Given the description of an element on the screen output the (x, y) to click on. 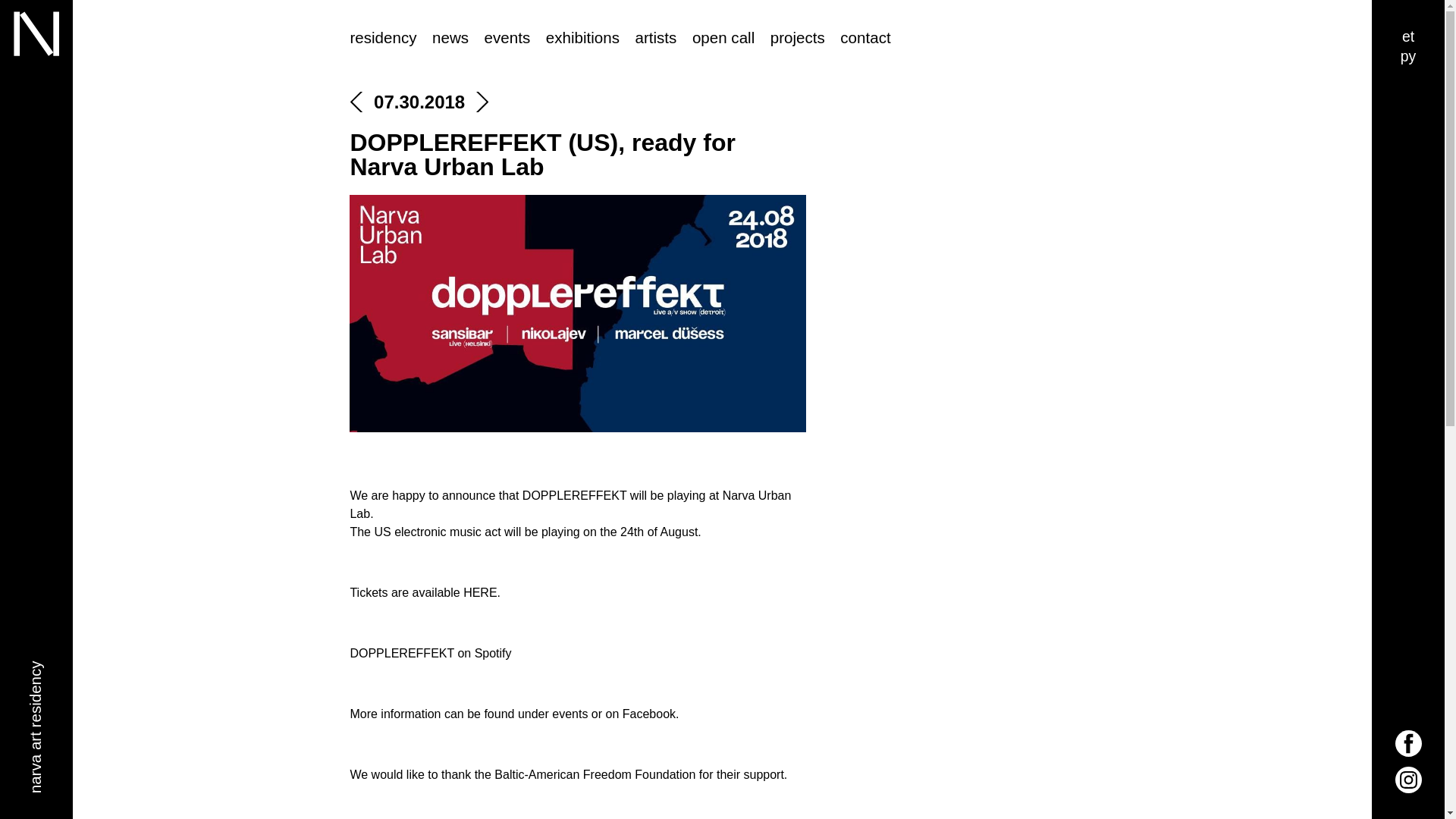
open call (723, 37)
narva art residency (316, 226)
exhibitions (583, 37)
projects (797, 37)
news (450, 37)
artists (655, 37)
DOPPLEREFFEKT on Spotify (430, 653)
HERE (479, 592)
events (507, 37)
residency (382, 37)
contact (864, 37)
